Given the description of an element on the screen output the (x, y) to click on. 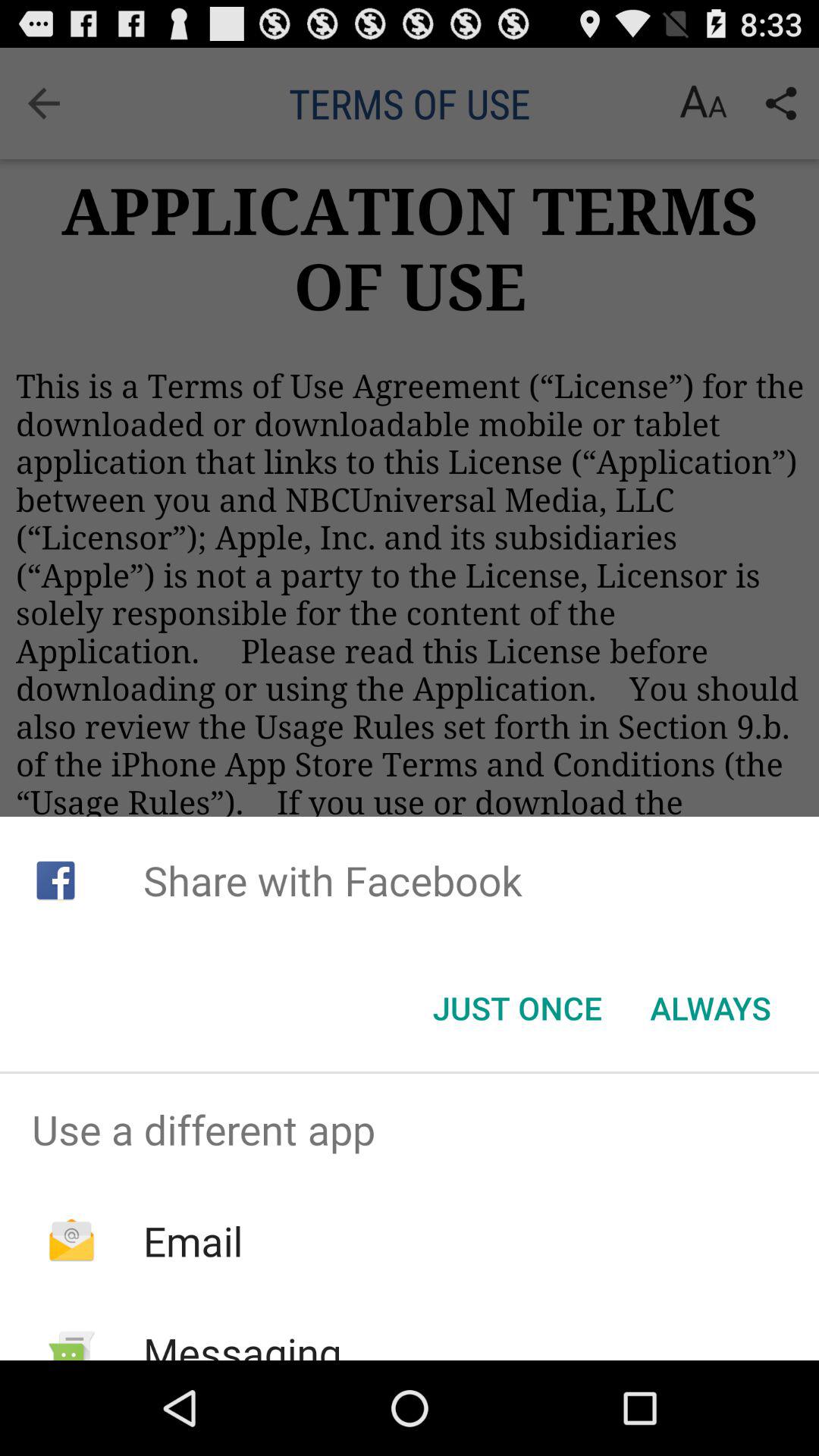
turn off the just once (517, 1007)
